Given the description of an element on the screen output the (x, y) to click on. 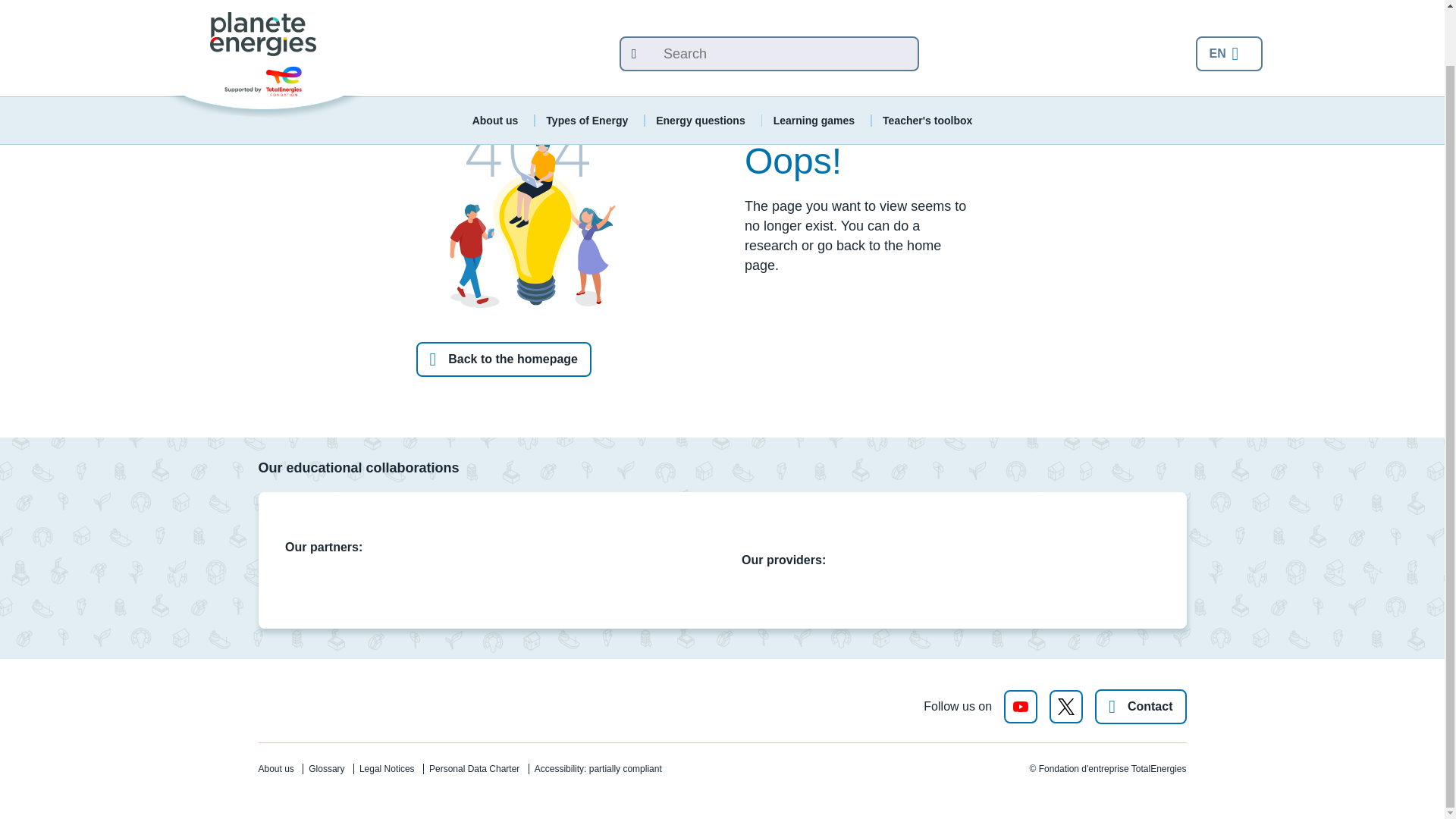
Energy questions (700, 60)
Search (628, 5)
Follow us on Youtube (1020, 706)
About us (494, 60)
Types of Energy (586, 60)
Legal Notices (386, 768)
Accessibility: partially compliant (598, 768)
Follow us on X (1066, 706)
About us (275, 768)
Personal Data Charter (474, 768)
